Given the description of an element on the screen output the (x, y) to click on. 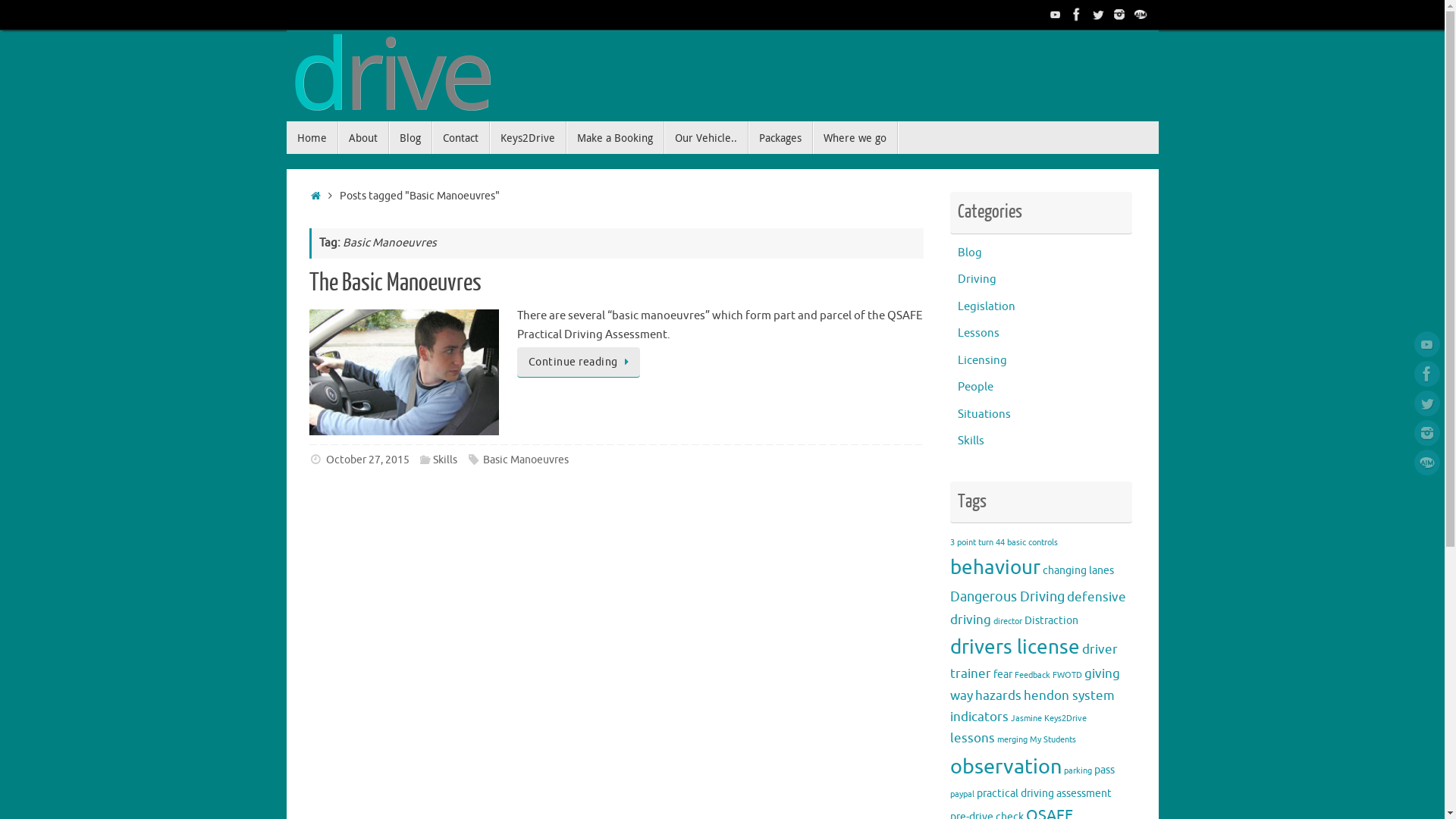
driveredlands Element type: hover (392, 75)
Keys2Drive Element type: text (527, 137)
Distraction Element type: text (1050, 619)
practical driving assessment Element type: text (1043, 793)
observation Element type: text (1004, 766)
FaceBook Element type: hover (1427, 373)
Instagram Element type: hover (1118, 14)
Skip to content Element type: text (285, 144)
Home Element type: text (312, 137)
YouTube Element type: hover (1427, 344)
44 Element type: text (999, 542)
hazards Element type: text (998, 694)
Continue reading Element type: text (578, 362)
Licensing Element type: text (981, 360)
womo Element type: hover (1427, 462)
Driving Element type: text (976, 279)
Home Element type: text (316, 195)
The Basic Manoeuvres Element type: text (395, 282)
indicators Element type: text (978, 716)
3 point turn Element type: text (970, 542)
driver trainer Element type: text (1033, 661)
Dangerous Driving Element type: text (1006, 596)
Jasmine Element type: text (1025, 718)
changing lanes Element type: text (1077, 570)
Lessons Element type: text (977, 333)
giving way Element type: text (1034, 683)
People Element type: text (974, 386)
hendon system Element type: text (1068, 694)
Tags Element type: hover (474, 459)
Skills Element type: text (970, 440)
lessons Element type: text (971, 738)
Where we go Element type: text (854, 137)
Packages Element type: text (779, 137)
Our Vehicle.. Element type: text (706, 137)
director Element type: text (1007, 620)
Twitter Element type: hover (1427, 403)
basic controls Element type: text (1032, 542)
parking Element type: text (1077, 770)
womo Element type: hover (1140, 14)
Blog Element type: text (969, 252)
Situations Element type: text (983, 414)
YouTube Element type: hover (1055, 14)
Twitter Element type: hover (1097, 14)
behaviour Element type: text (994, 567)
Feedback Element type: text (1032, 675)
Date Element type: hover (316, 459)
October 27, 2015 Element type: text (367, 459)
merging Element type: text (1011, 739)
Blog Element type: text (409, 137)
drivers license Element type: text (1014, 646)
Skills Element type: text (445, 459)
About Element type: text (363, 137)
pass Element type: text (1103, 769)
Keys2Drive Element type: text (1064, 718)
fear Element type: text (1002, 673)
Make a Booking Element type: text (614, 137)
Contact Element type: text (460, 137)
FWOTD Element type: text (1067, 675)
My Students Element type: text (1052, 739)
Basic Manoeuvres Element type: text (525, 459)
paypal Element type: text (961, 794)
Categories Element type: hover (425, 459)
Instagram Element type: hover (1427, 432)
defensive driving Element type: text (1037, 608)
FaceBook Element type: hover (1076, 14)
Legislation Element type: text (985, 306)
